Given the description of an element on the screen output the (x, y) to click on. 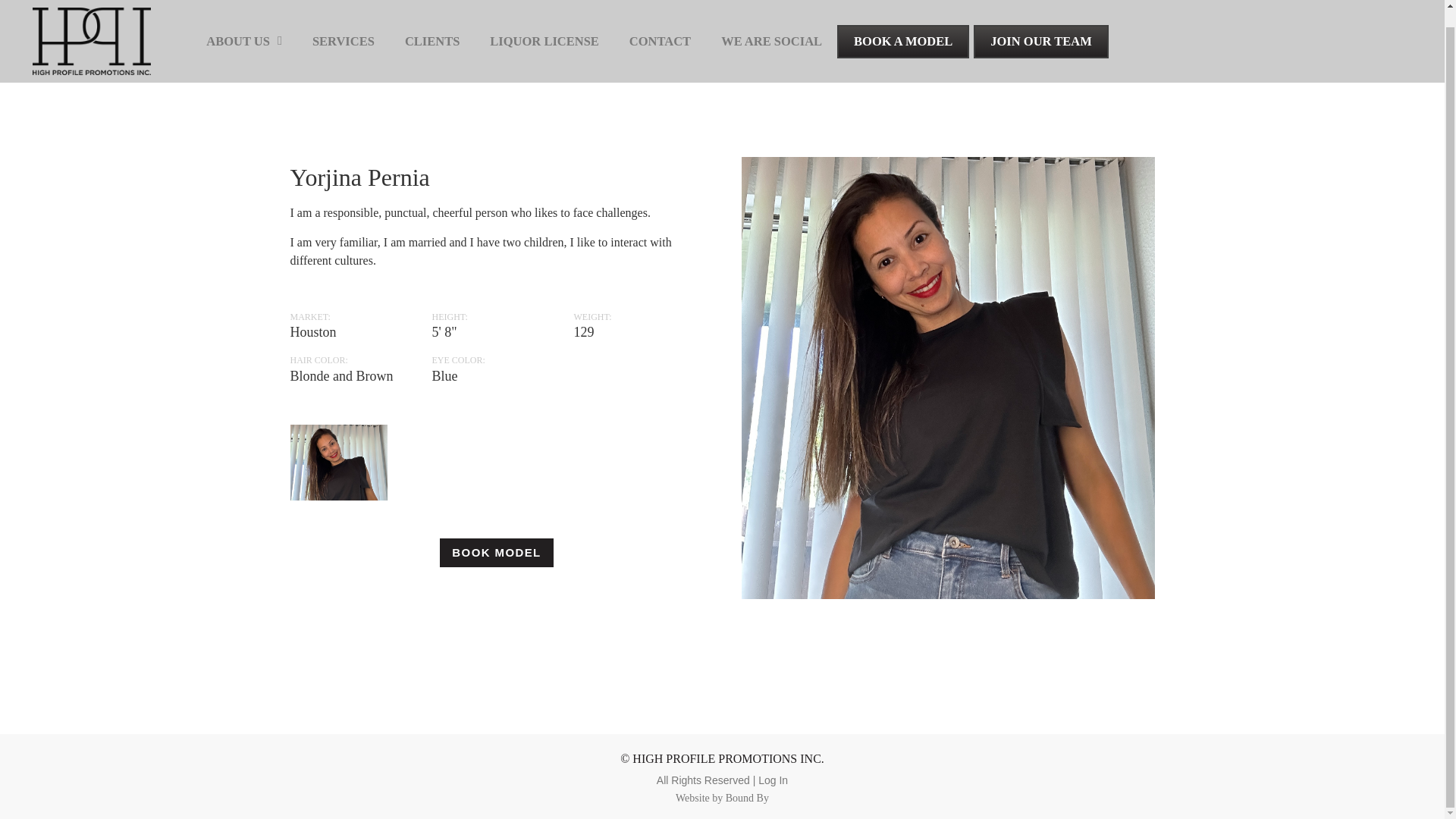
CLIENTS (432, 24)
BOOK A MODEL (903, 24)
WE ARE SOCIAL (771, 24)
CONTACT (660, 24)
SERVICES (343, 24)
ABOUT US (243, 24)
JOIN OUR TEAM (1041, 24)
LIQUOR LICENSE (544, 24)
